Given the description of an element on the screen output the (x, y) to click on. 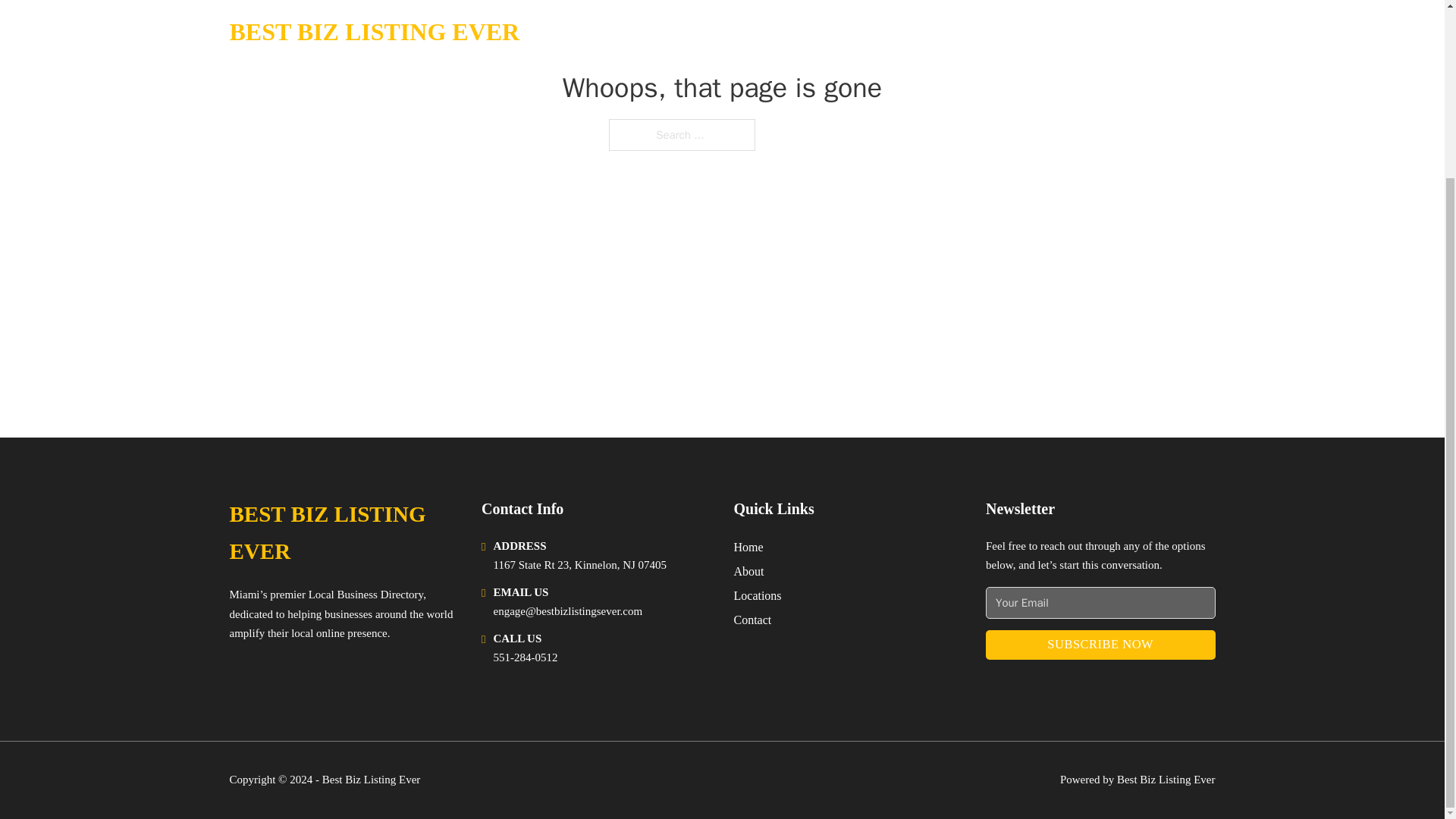
551-284-0512 (525, 657)
Contact (752, 619)
Home (747, 547)
SUBSCRIBE NOW (1100, 644)
About (748, 571)
BEST BIZ LISTING EVER (343, 533)
Locations (757, 595)
